Given the description of an element on the screen output the (x, y) to click on. 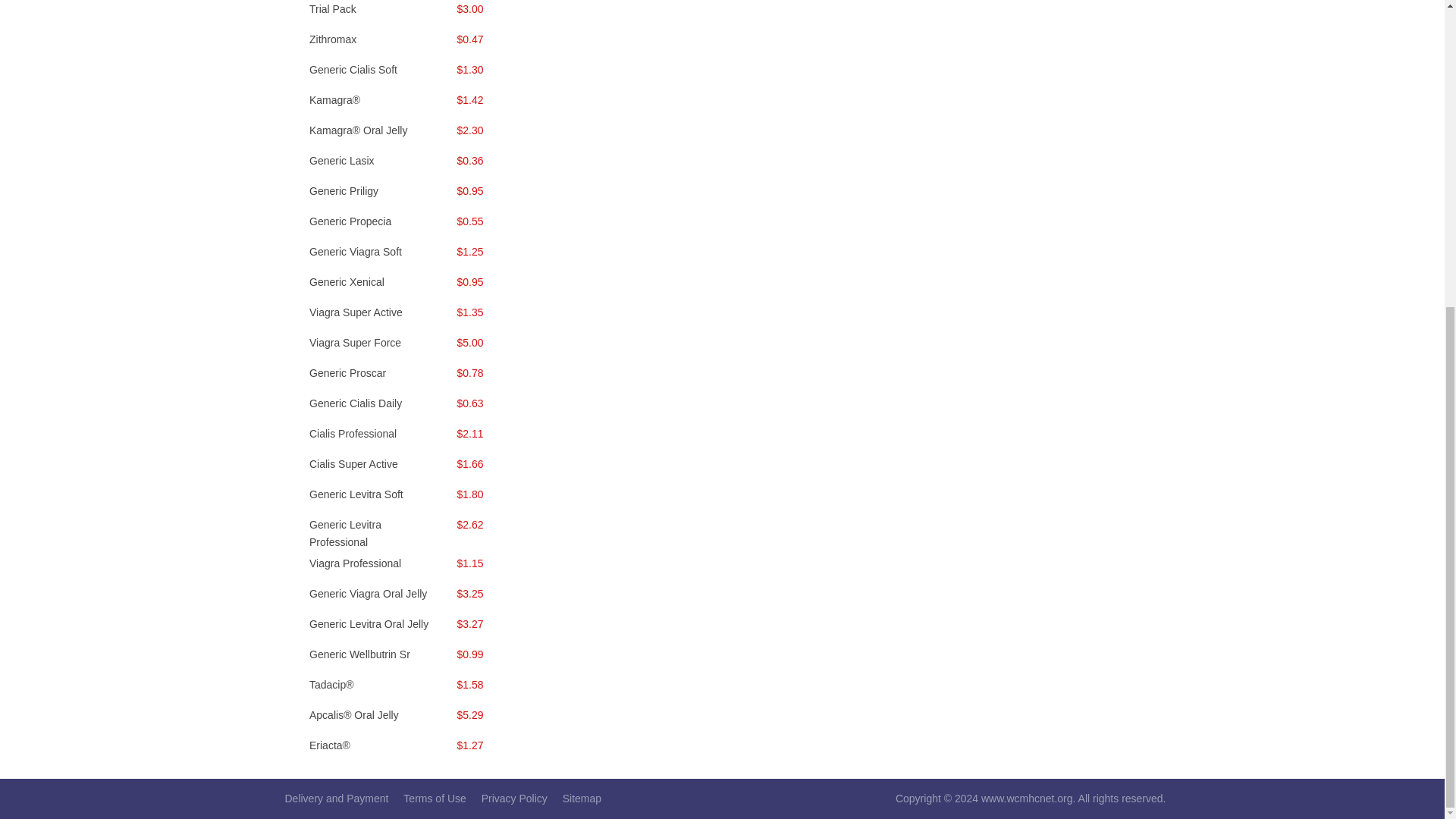
Generic Xenical (346, 282)
Generic Levitra Professional (344, 532)
Generic Cialis Daily (354, 403)
Generic Cialis Soft (352, 69)
Viagra Super Force (354, 342)
Trial Pack (332, 9)
Viagra Professional (354, 563)
Generic Levitra Oral Jelly (368, 623)
Generic Viagra Soft (354, 251)
Zithromax (332, 39)
